Given the description of an element on the screen output the (x, y) to click on. 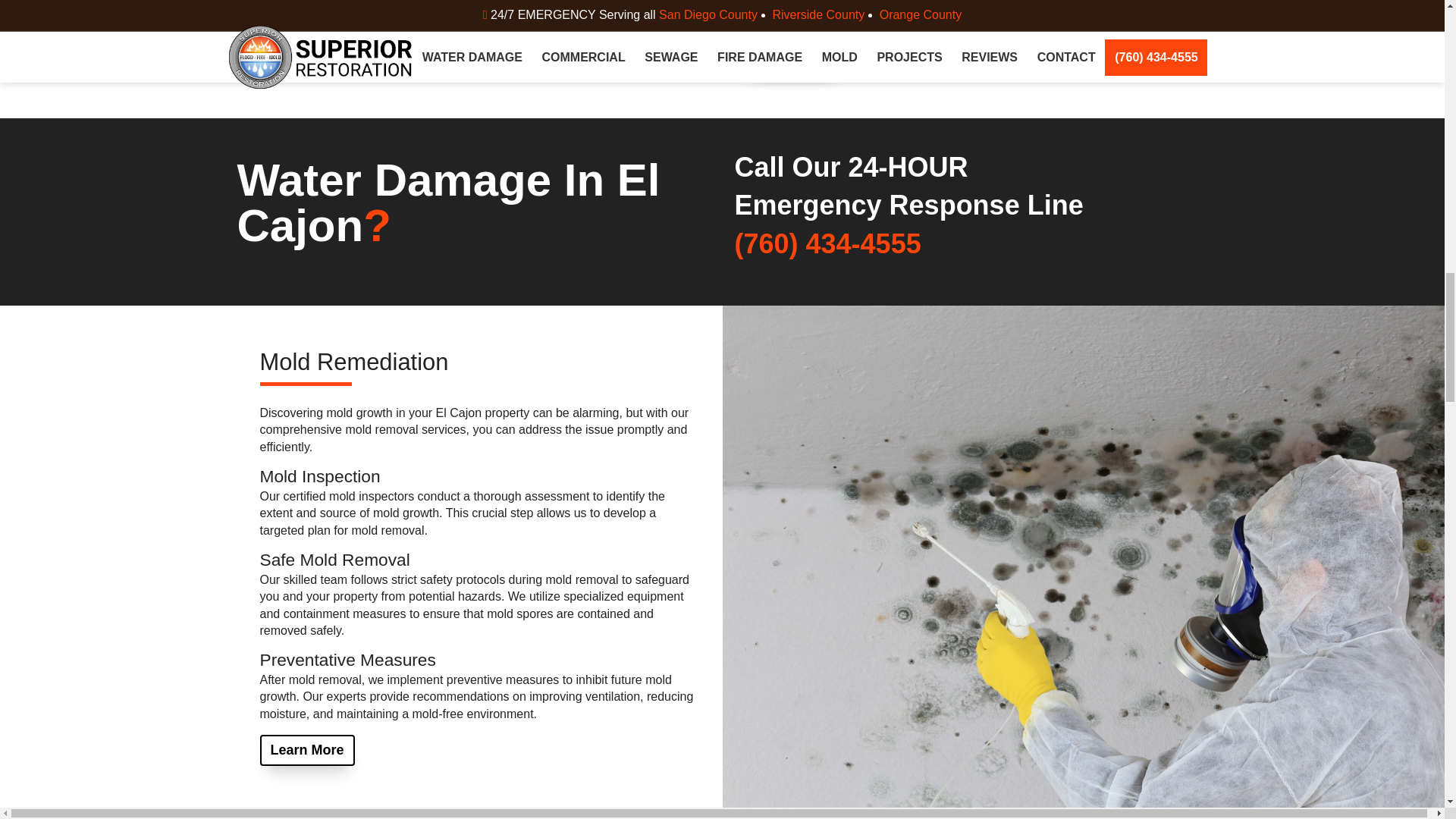
Learn More (306, 749)
Learn More (792, 56)
